Given the description of an element on the screen output the (x, y) to click on. 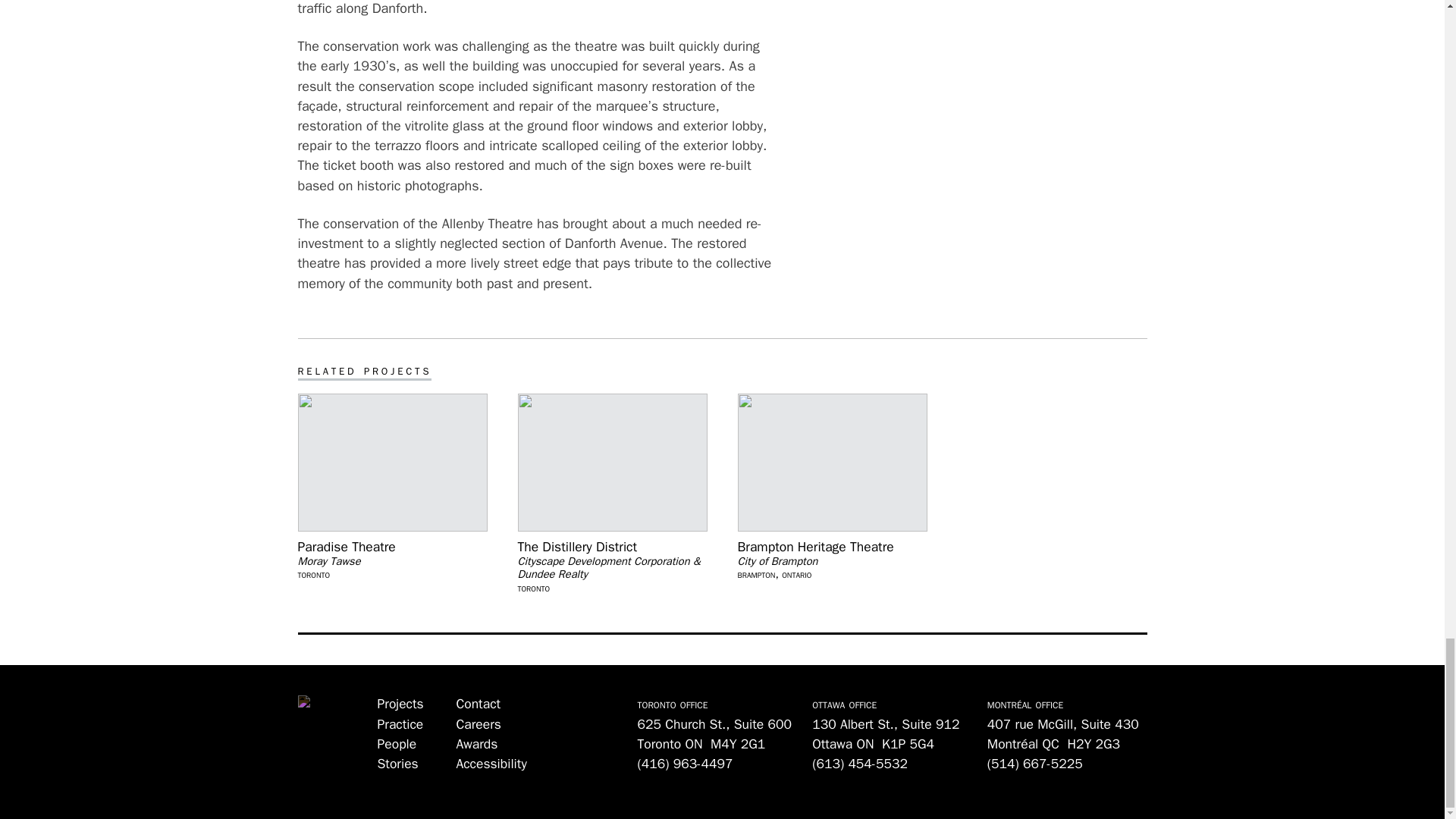
Paradise Theatre (391, 546)
The Distillery District (611, 546)
Brampton Heritage Theatre (831, 546)
